Given the description of an element on the screen output the (x, y) to click on. 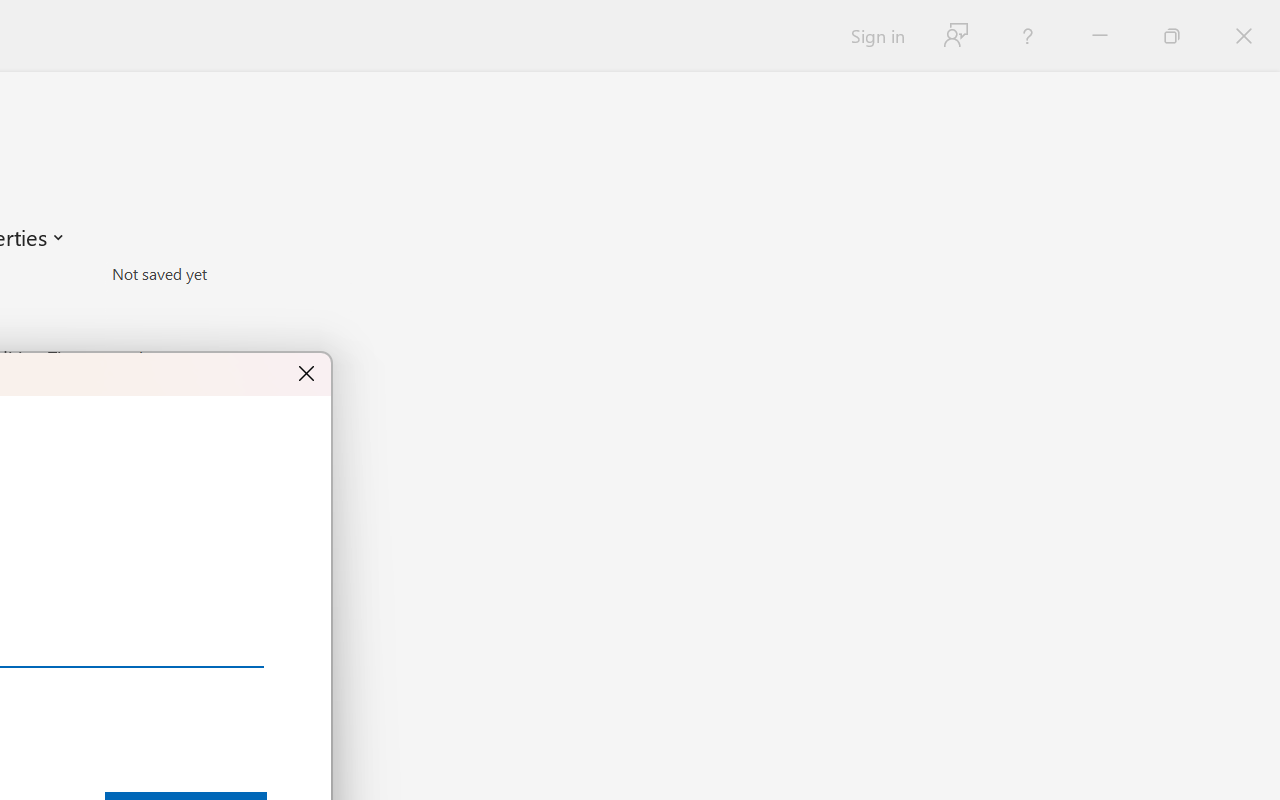
Size (228, 274)
Pages (228, 301)
Words (228, 330)
